Given the description of an element on the screen output the (x, y) to click on. 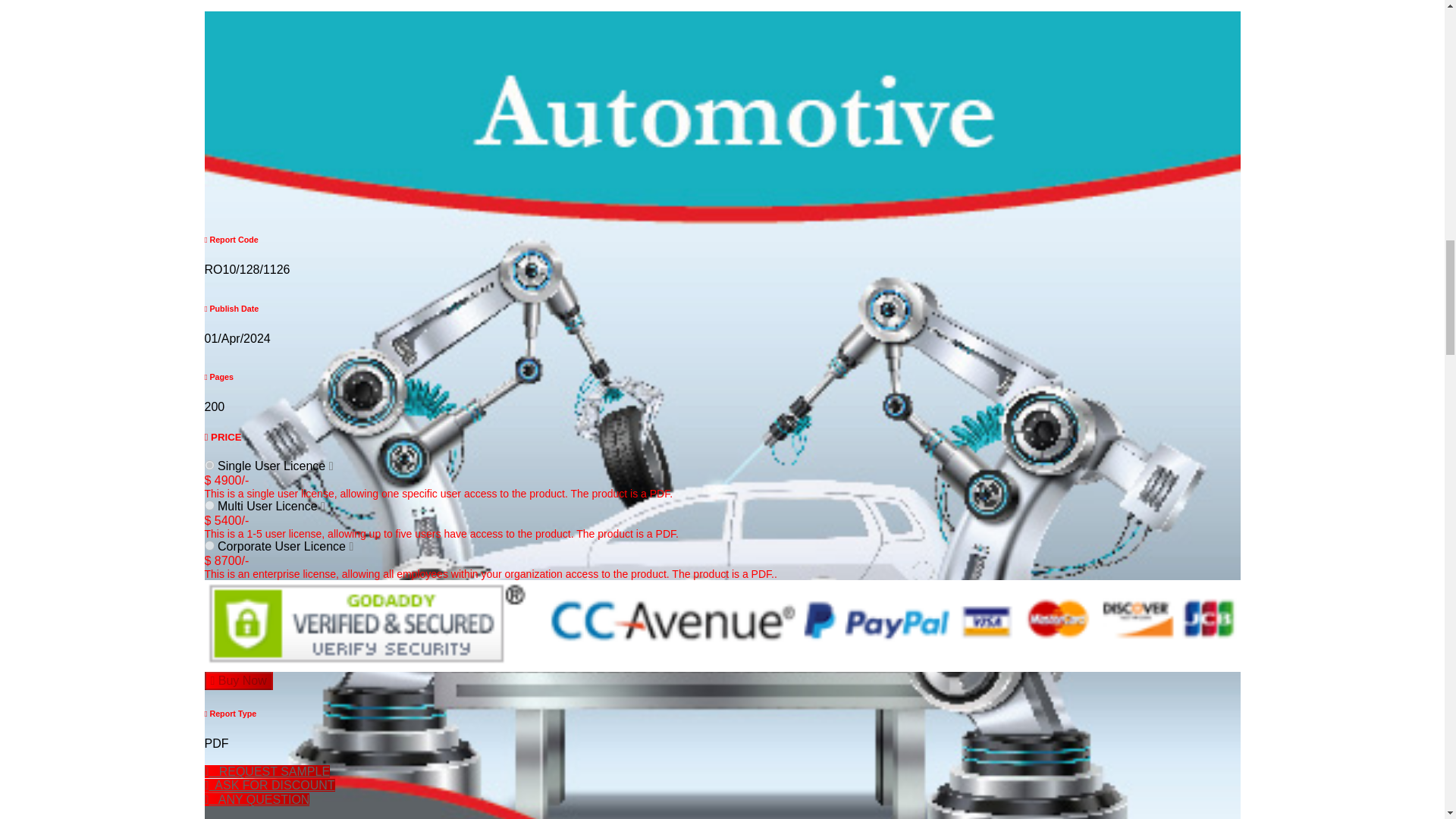
  REQUEST SAMPLE (267, 771)
Buy Now (239, 680)
4900 (209, 465)
5400 (209, 505)
8700 (209, 545)
